Given the description of an element on the screen output the (x, y) to click on. 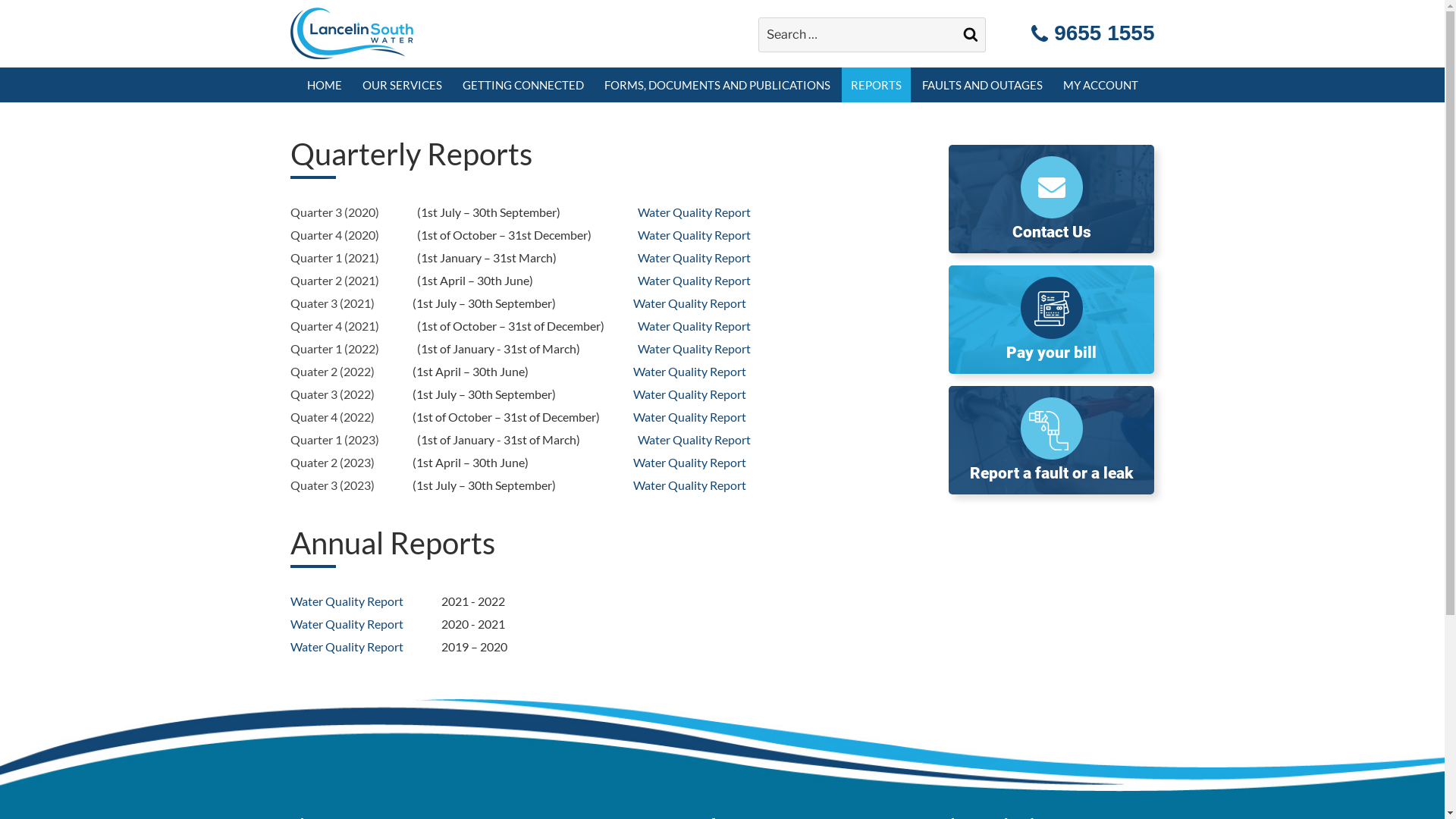
Water Quality Report Element type: text (693, 439)
Water Quality Report Element type: text (689, 302)
Water Quality Report Element type: text (693, 280)
Water Quality Report Element type: text (693, 325)
Contact Us Element type: text (1051, 198)
GETTING CONNECTED Element type: text (523, 84)
Water Quality Report Element type: text (689, 416)
Water Quality Report Element type: text (693, 348)
OUR SERVICES Element type: text (402, 84)
REPORTS Element type: text (875, 84)
Report a fault or a leak Element type: text (1051, 440)
HOME Element type: text (323, 84)
Water Quality Report Element type: text (689, 371)
Water Quality Report Element type: text (689, 393)
Water Quality Report Element type: text (689, 484)
MY ACCOUNT Element type: text (1100, 84)
Water Quality Report Element type: text (693, 234)
Pay your bill Element type: text (1051, 319)
Water Quality Report Element type: text (345, 623)
FORMS, DOCUMENTS AND PUBLICATIONS Element type: text (716, 84)
Skip to content Element type: text (0, 0)
Water Quality Report Element type: text (345, 646)
Water Quality Report Element type: text (693, 211)
FAULTS AND OUTAGES Element type: text (982, 84)
Water Quality Report Element type: text (693, 257)
Water Quality Report Element type: text (345, 600)
Water Quality Report Element type: text (689, 462)
